Given the description of an element on the screen output the (x, y) to click on. 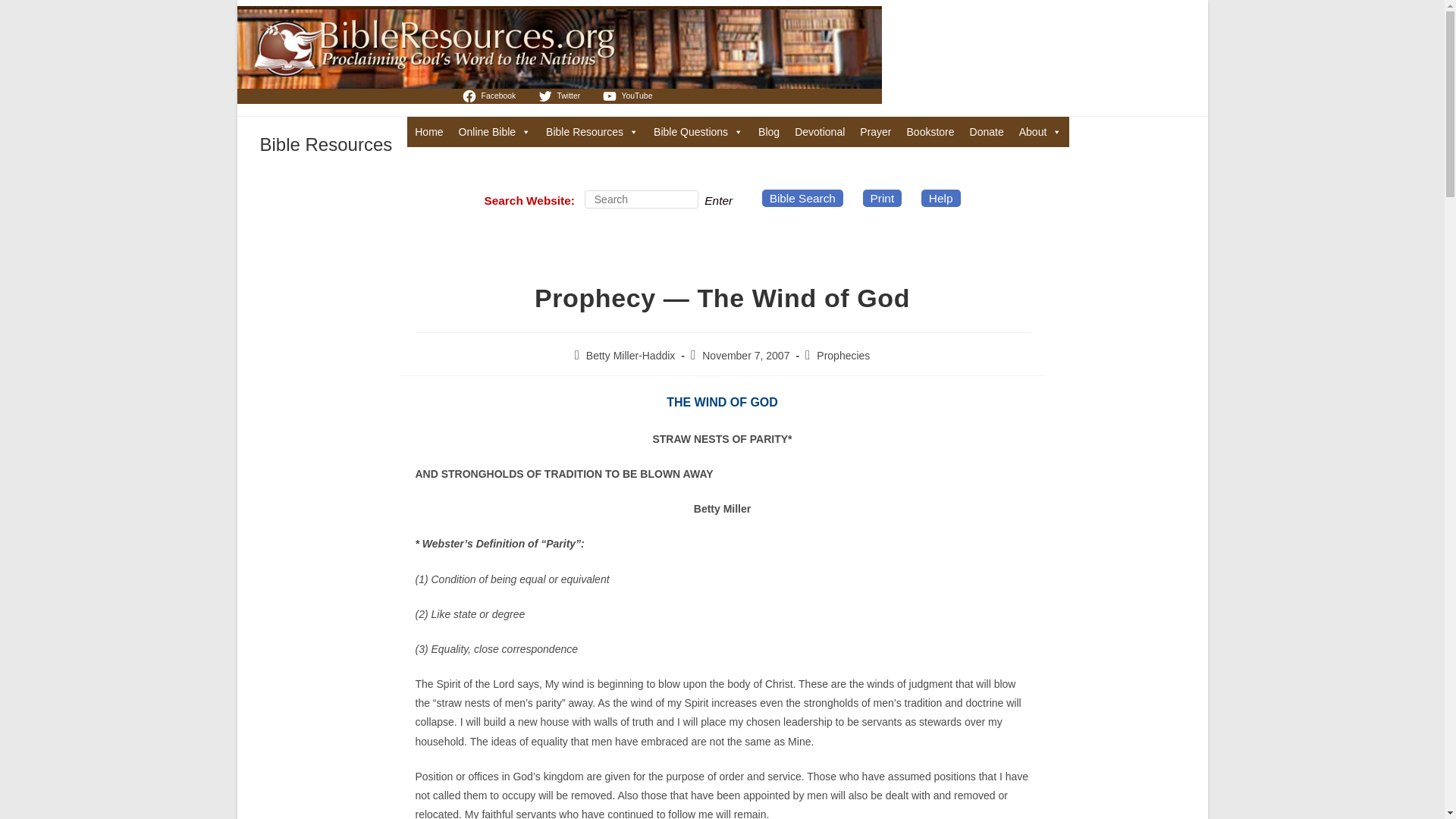
Facebook (490, 96)
Bible Resources (325, 144)
YouTube (629, 96)
Bible Questions (698, 132)
Home (428, 132)
Twitter (560, 96)
Online Bible (494, 132)
Answers to Questions about the Bible (698, 132)
Bible Resources (592, 132)
Bible Search in many Translations (494, 132)
Bible Resources (592, 132)
